Given the description of an element on the screen output the (x, y) to click on. 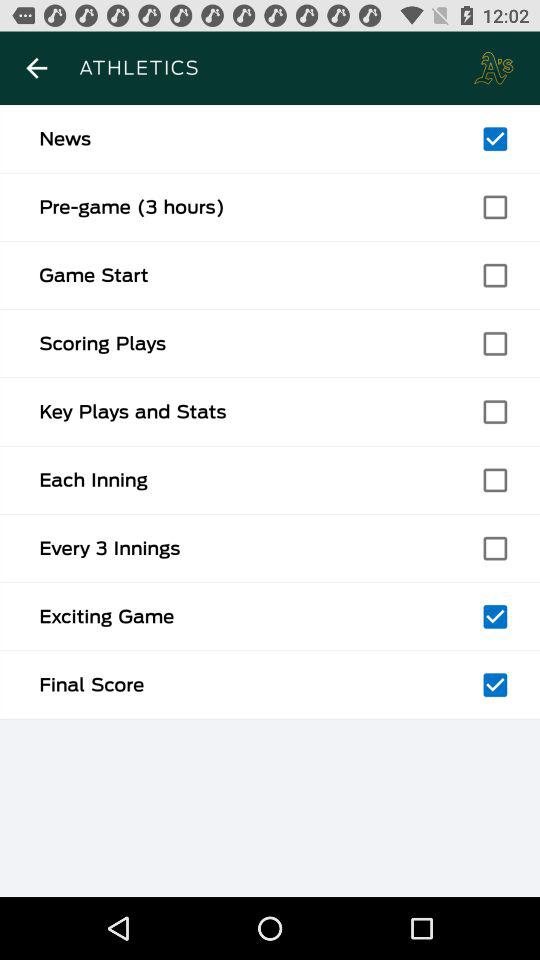
show final score radio button (495, 685)
